Given the description of an element on the screen output the (x, y) to click on. 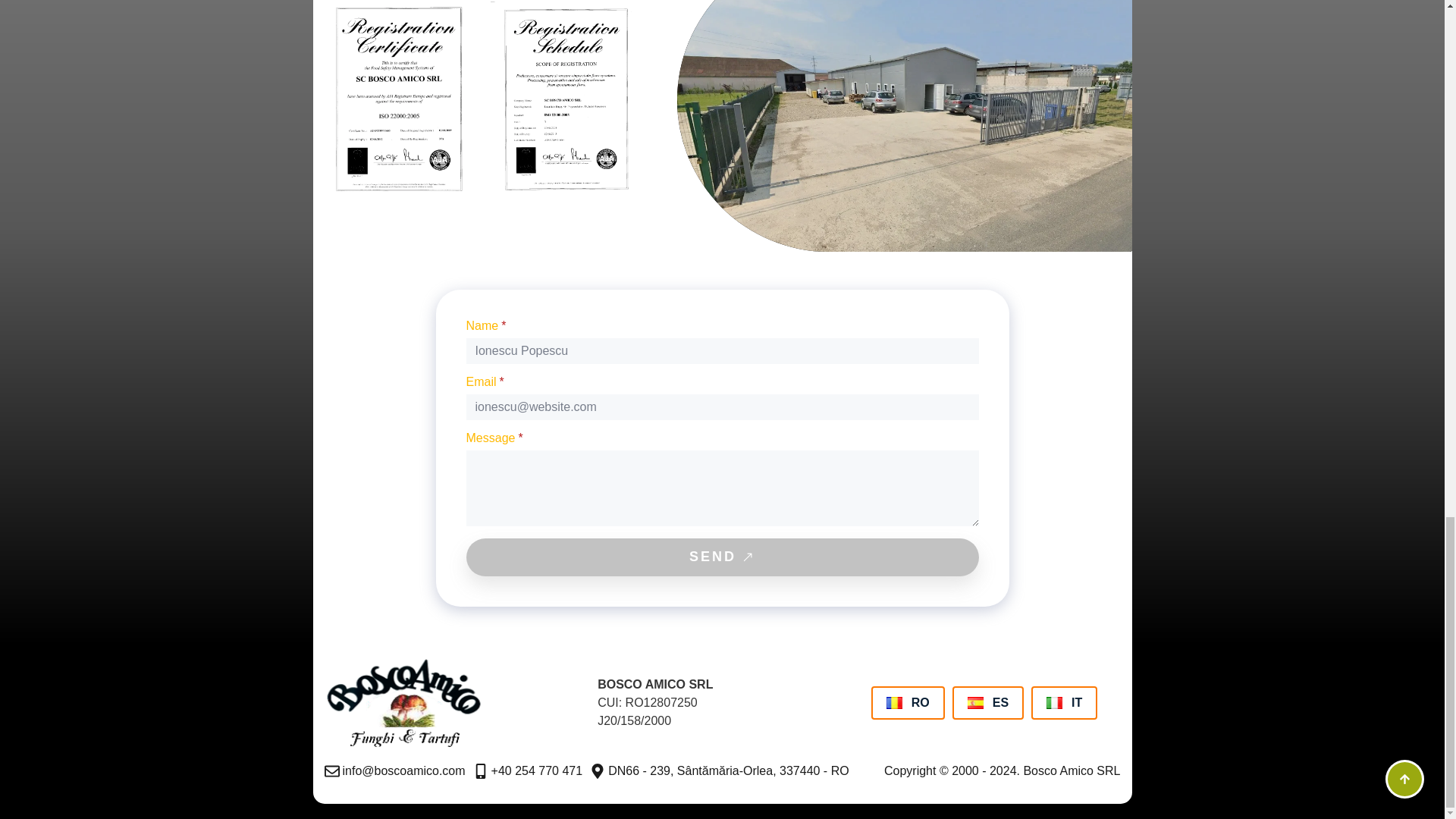
IT (1063, 702)
RO (907, 702)
SEND (721, 557)
ES (987, 702)
